Given the description of an element on the screen output the (x, y) to click on. 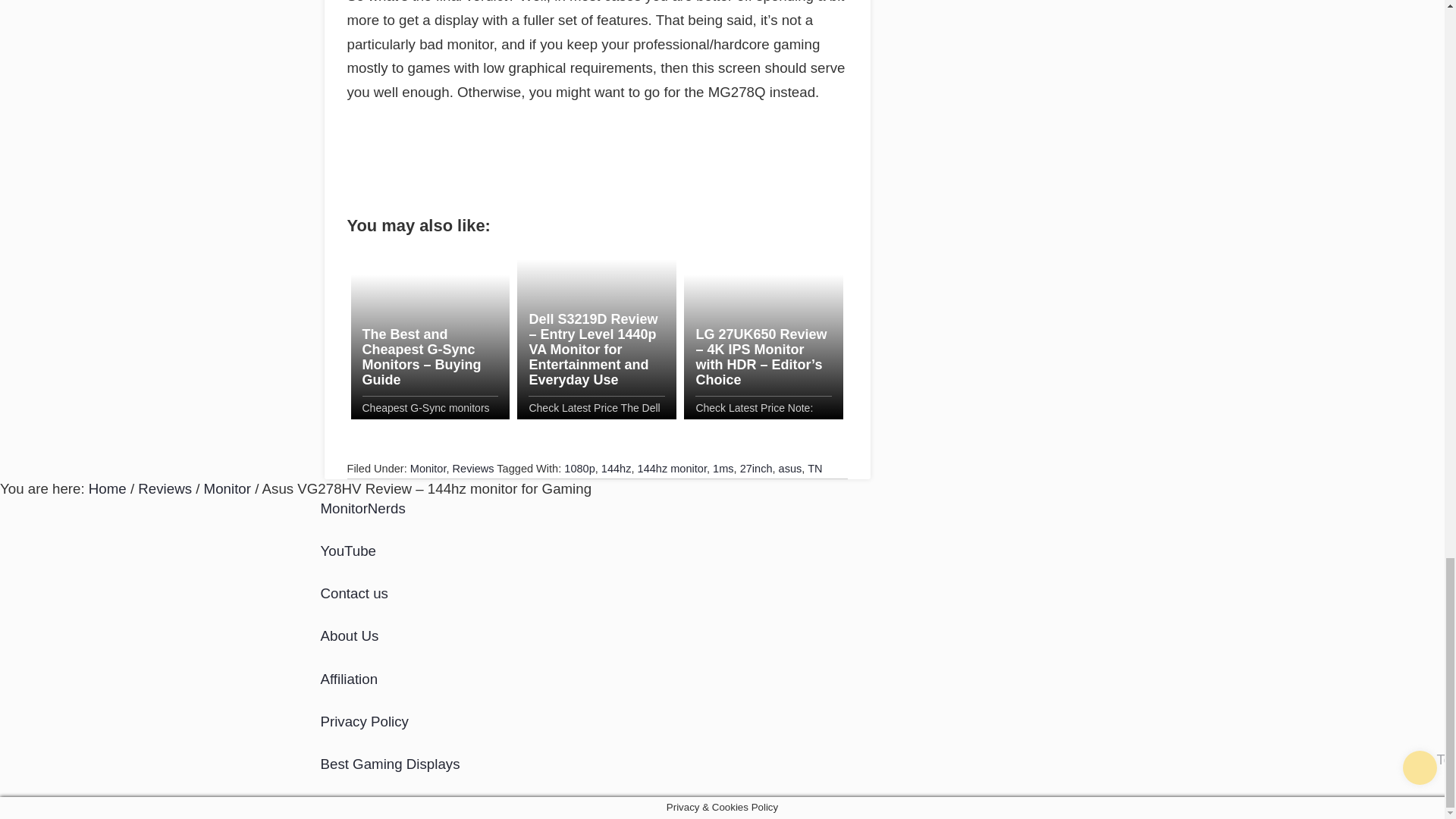
MonitorNerds (362, 508)
Contact us (353, 593)
YouTube (347, 550)
144hz (616, 468)
Reviews (165, 488)
Reviews (473, 468)
Privacy Policy (363, 721)
144hz monitor (671, 468)
About Us (349, 635)
Monitor (428, 468)
asus (790, 468)
Monitor (226, 488)
TN (815, 468)
1080p (579, 468)
1ms (723, 468)
